Given the description of an element on the screen output the (x, y) to click on. 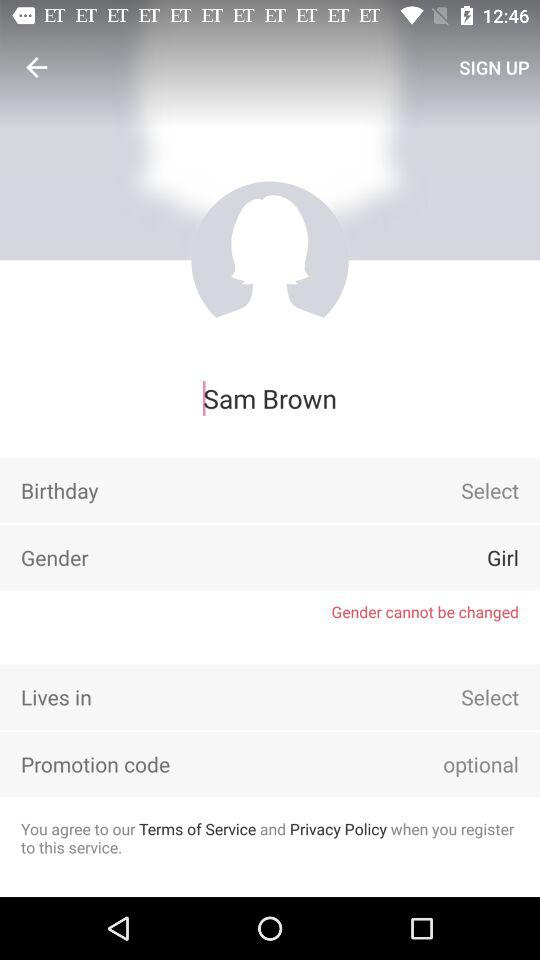
launch icon at the top right corner (494, 67)
